Given the description of an element on the screen output the (x, y) to click on. 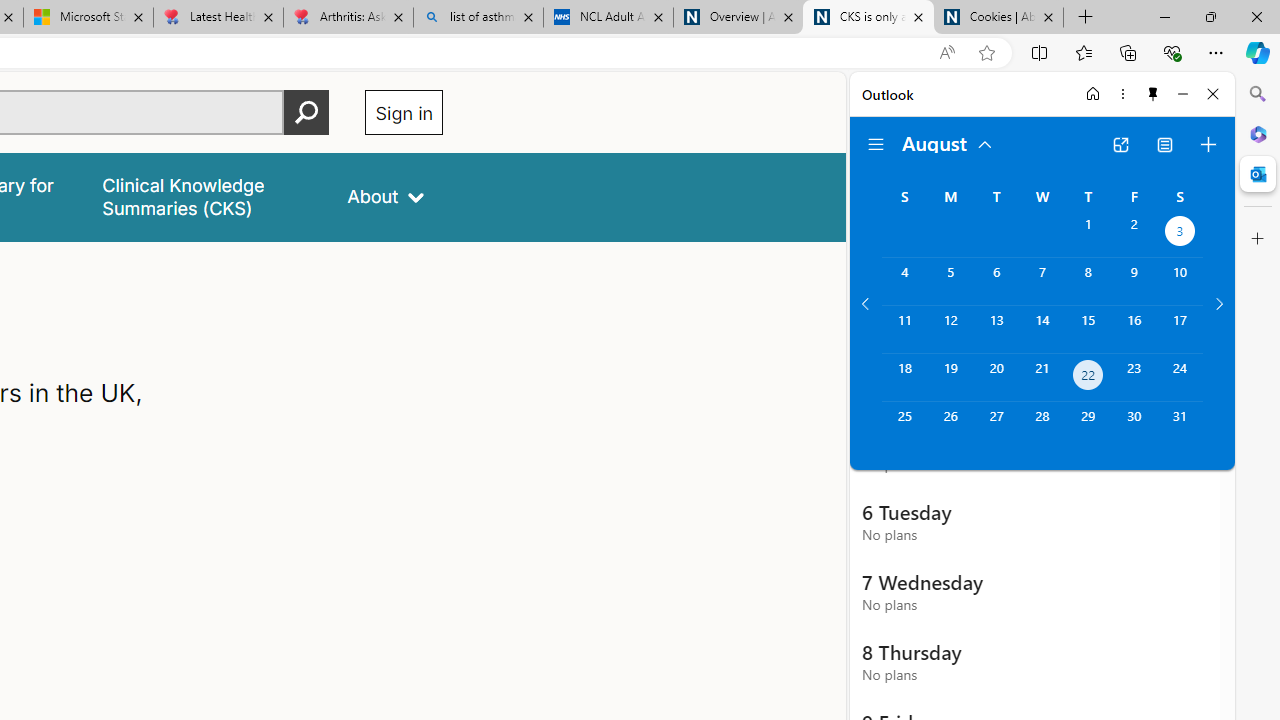
Close Customize pane (1258, 239)
Thursday, August 15, 2024.  (1088, 329)
Sunday, August 18, 2024.  (904, 377)
Create event (1208, 144)
NCL Adult Asthma Inhaler Choice Guideline (608, 17)
Wednesday, August 7, 2024.  (1042, 281)
CKS is only available in the UK | NICE (868, 17)
Tuesday, August 27, 2024.  (996, 425)
Saturday, August 31, 2024.  (1180, 425)
Wednesday, August 14, 2024.  (1042, 329)
Saturday, August 3, 2024. Date selected.  (1180, 233)
